Given the description of an element on the screen output the (x, y) to click on. 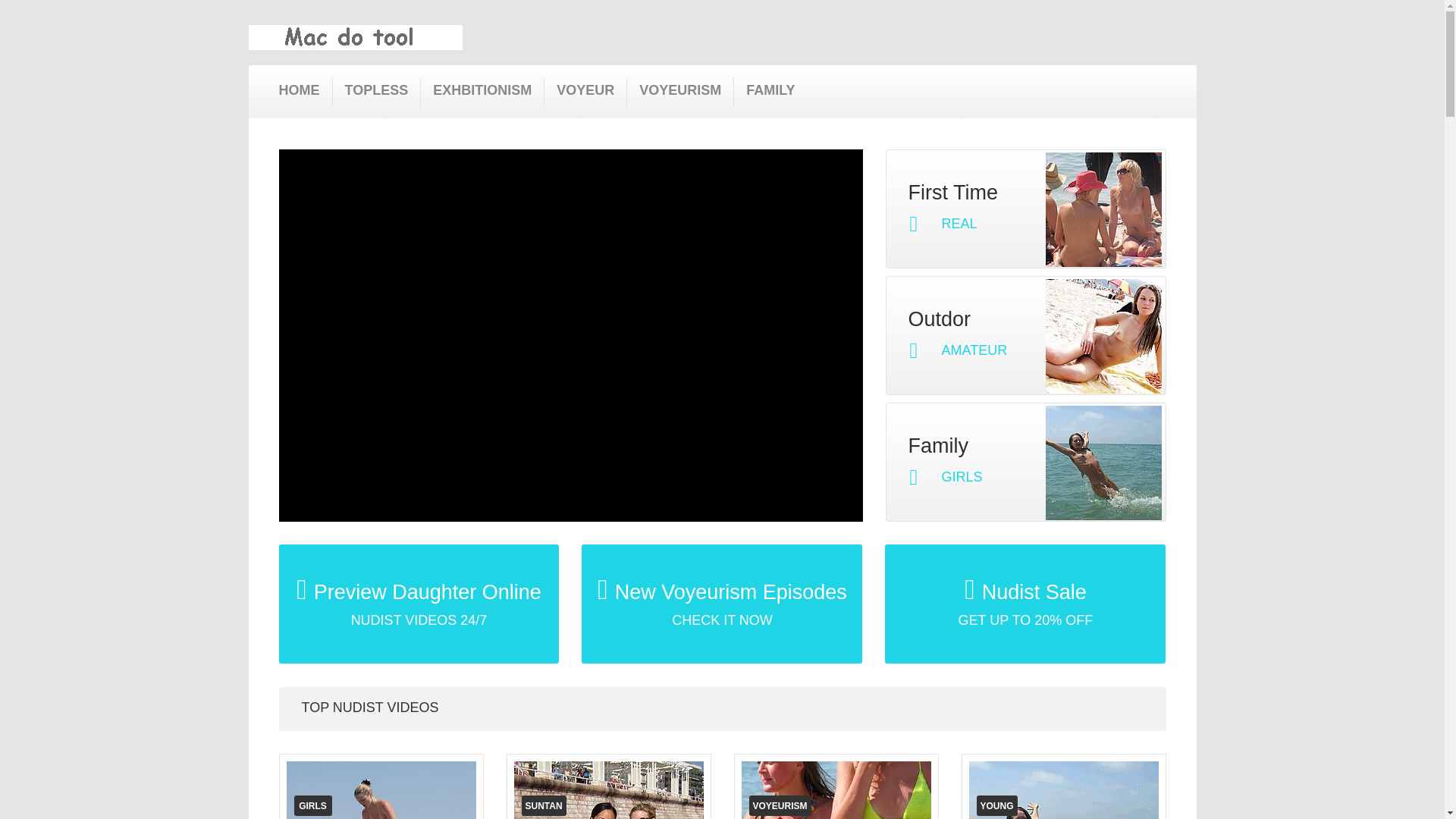
SUNTAN (1025, 208)
FAMILY (553, 807)
VOYEUR (1025, 461)
Teens (720, 603)
Nudism (769, 89)
GIRLS (585, 89)
Sand (585, 89)
TOP NUDIST VIDEOS (375, 89)
HOME (326, 807)
Nudity (481, 89)
EXHBITIONISM (370, 707)
Home (299, 89)
